Given the description of an element on the screen output the (x, y) to click on. 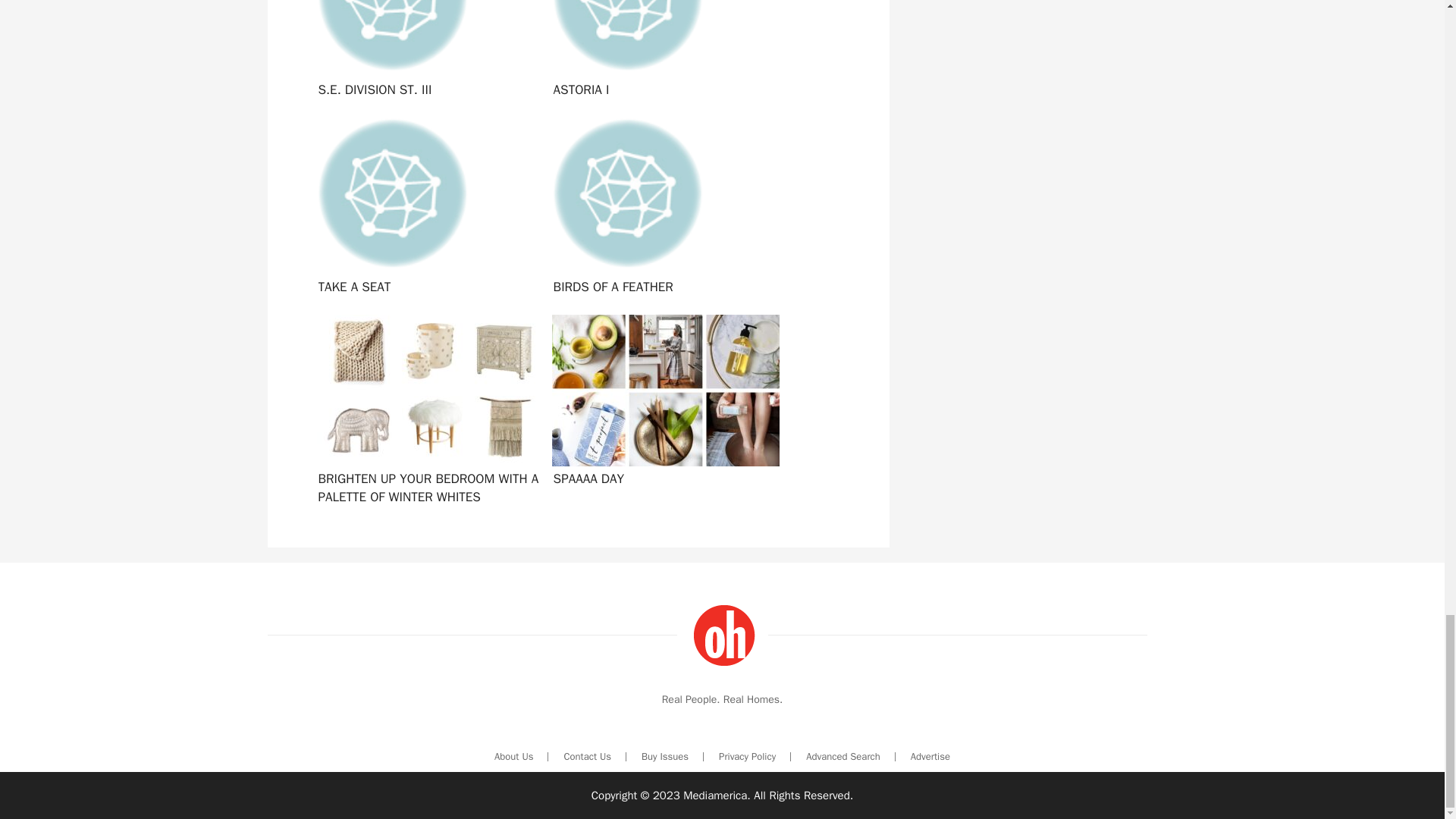
Astoria I (662, 53)
S.E. DIVISION ST. III (426, 53)
BIRDS OF A FEATHER (662, 208)
TAKE A SEAT (426, 208)
ASTORIA I (662, 53)
Spaaaa Day (662, 405)
Birds of a feather (662, 208)
BRIGHTEN UP YOUR BEDROOM WITH A PALETTE OF WINTER WHITES (426, 405)
Take a seat (426, 208)
Brighten up your bedroom with a Palette of Winter Whites (426, 405)
SPAAAA DAY (662, 405)
S.E. DIVISION ST. III (426, 53)
